Given the description of an element on the screen output the (x, y) to click on. 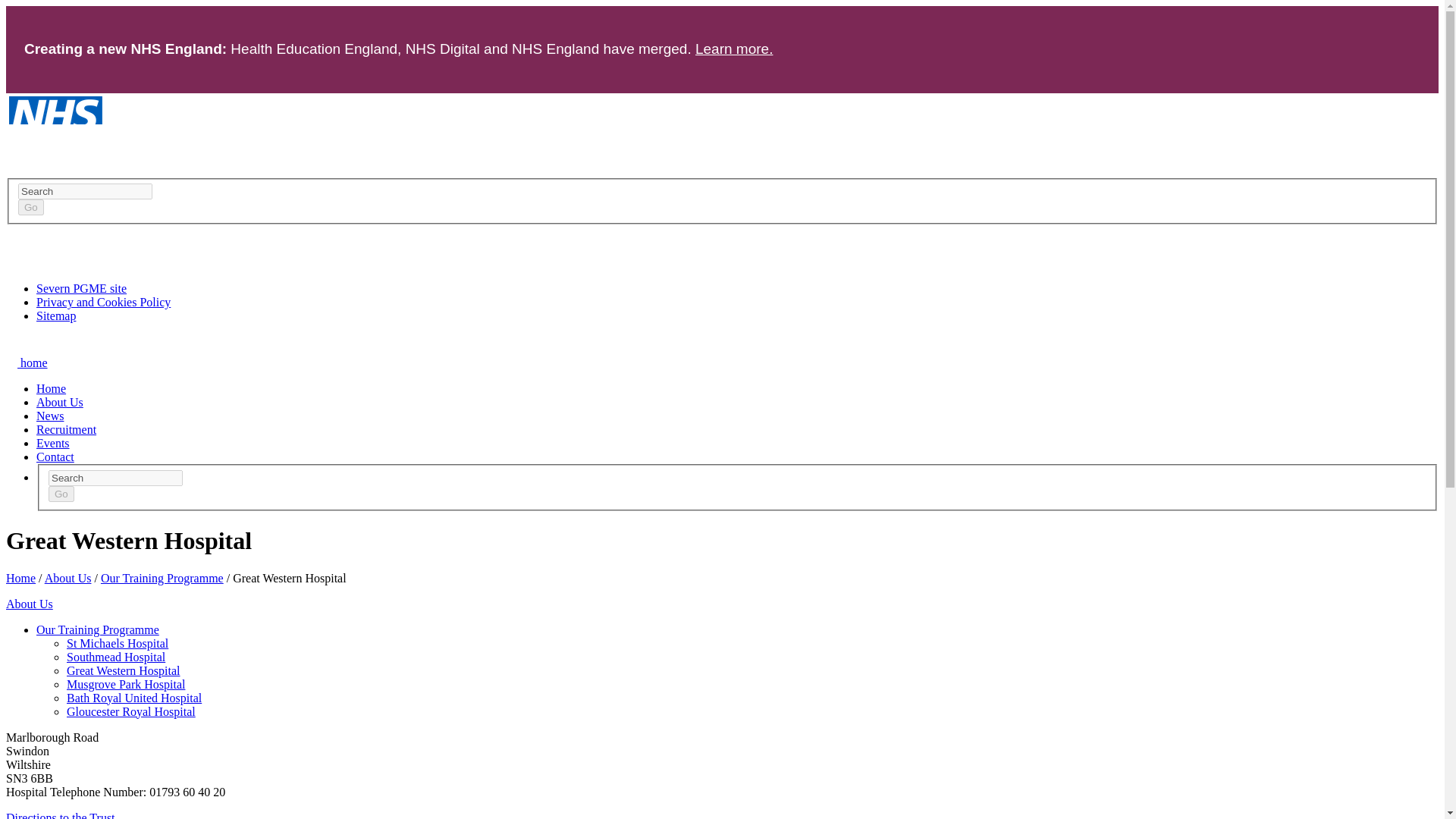
Our Training Programme (97, 629)
Events (52, 442)
Home (50, 388)
go to home page (26, 362)
Bath Royal United Hospital (134, 697)
About Us (28, 603)
Learn more. (734, 48)
home (26, 362)
Our Training Programme (162, 577)
Go (30, 207)
